Given the description of an element on the screen output the (x, y) to click on. 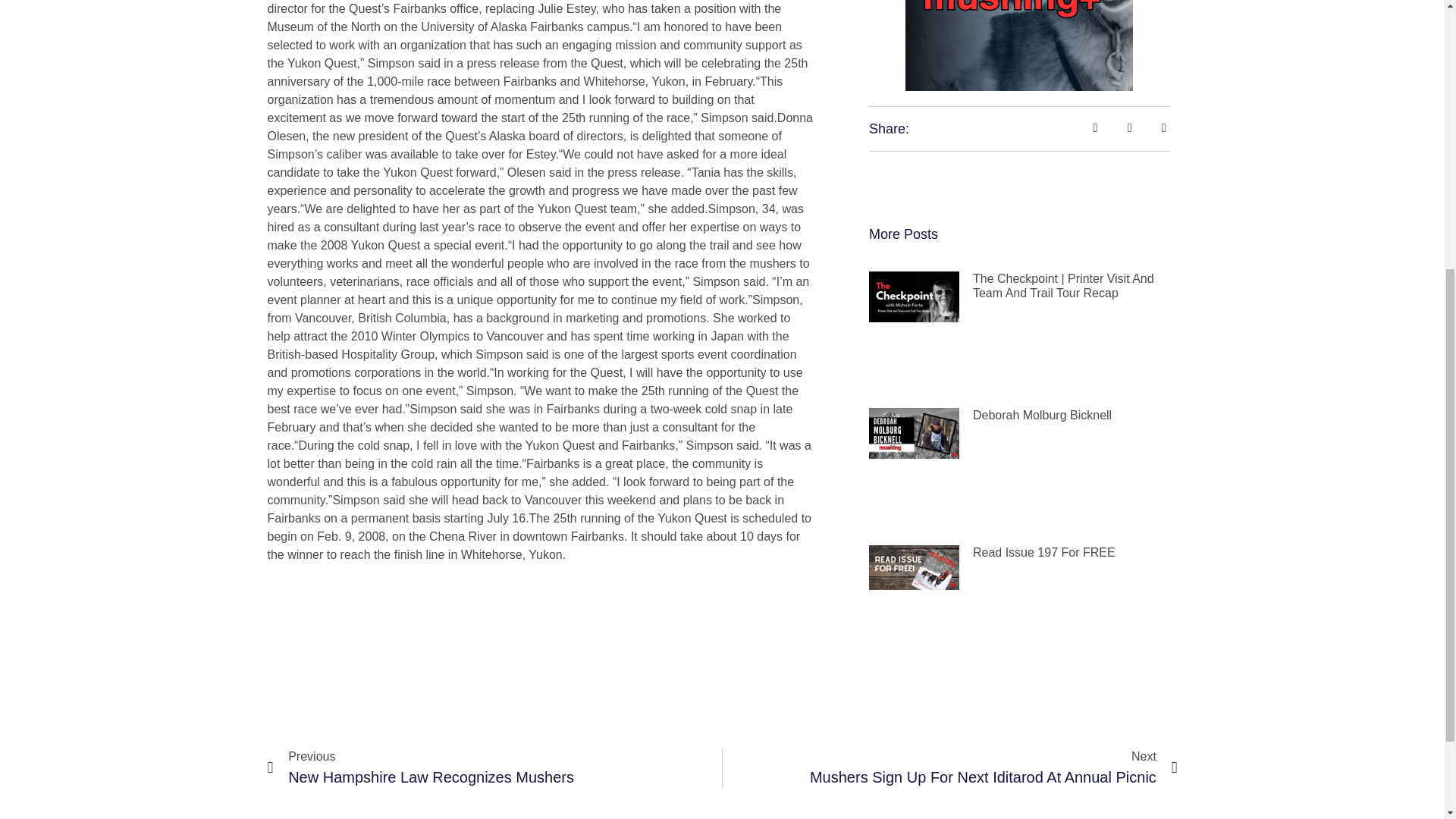
Deborah Molburg Bicknell (1042, 414)
Read Issue 197 For FREE (949, 767)
